Given the description of an element on the screen output the (x, y) to click on. 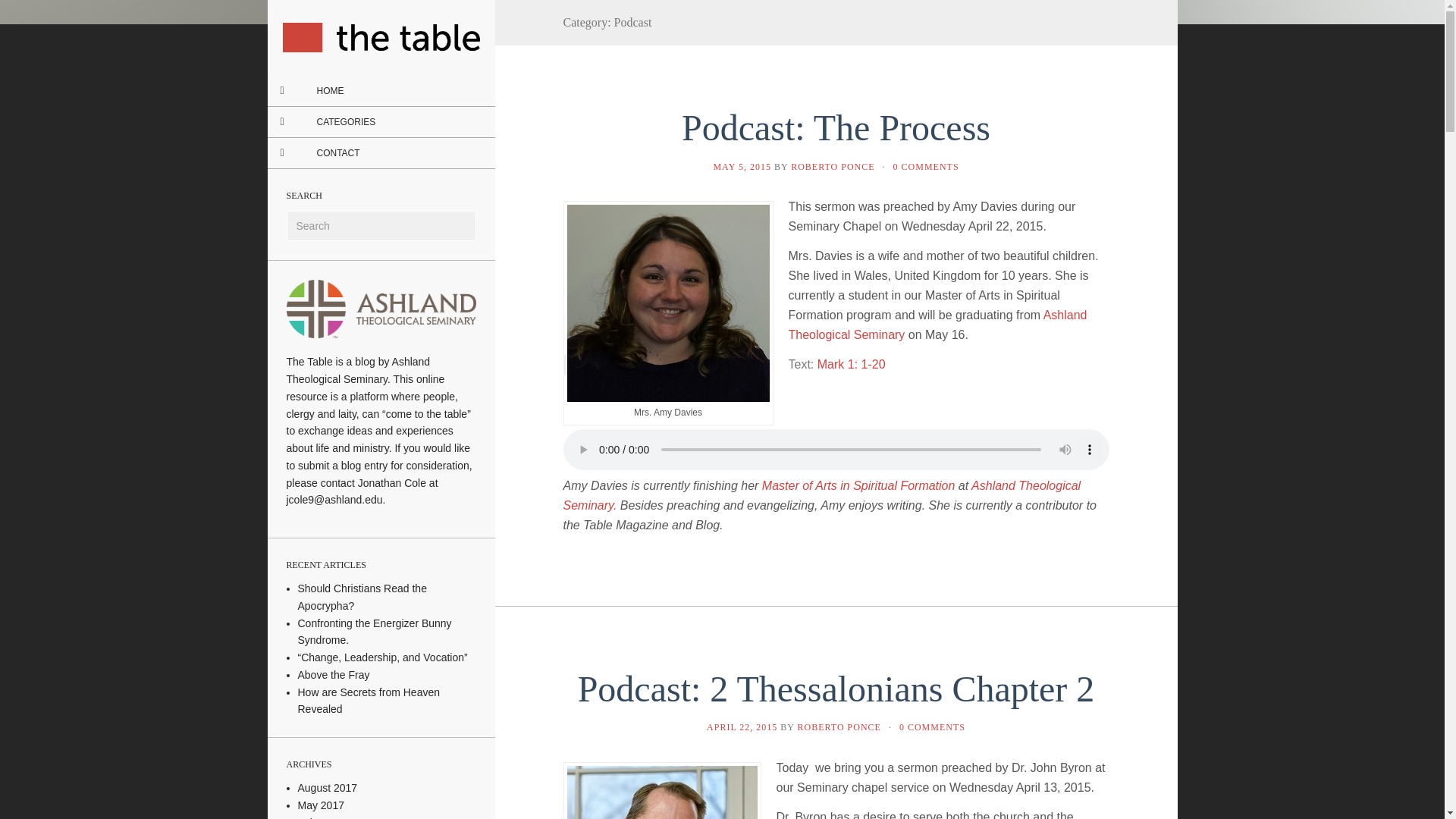
May 2017 (320, 805)
Permalink to Podcast: 2 Thessalonians Chapter 2 (836, 689)
HOME (329, 90)
February 2017 (331, 817)
CONTACT (337, 153)
Search (22, 11)
Above the Fray (333, 674)
August 2017 (326, 787)
The Table (380, 37)
How are Secrets from Heaven Revealed (368, 700)
